Given the description of an element on the screen output the (x, y) to click on. 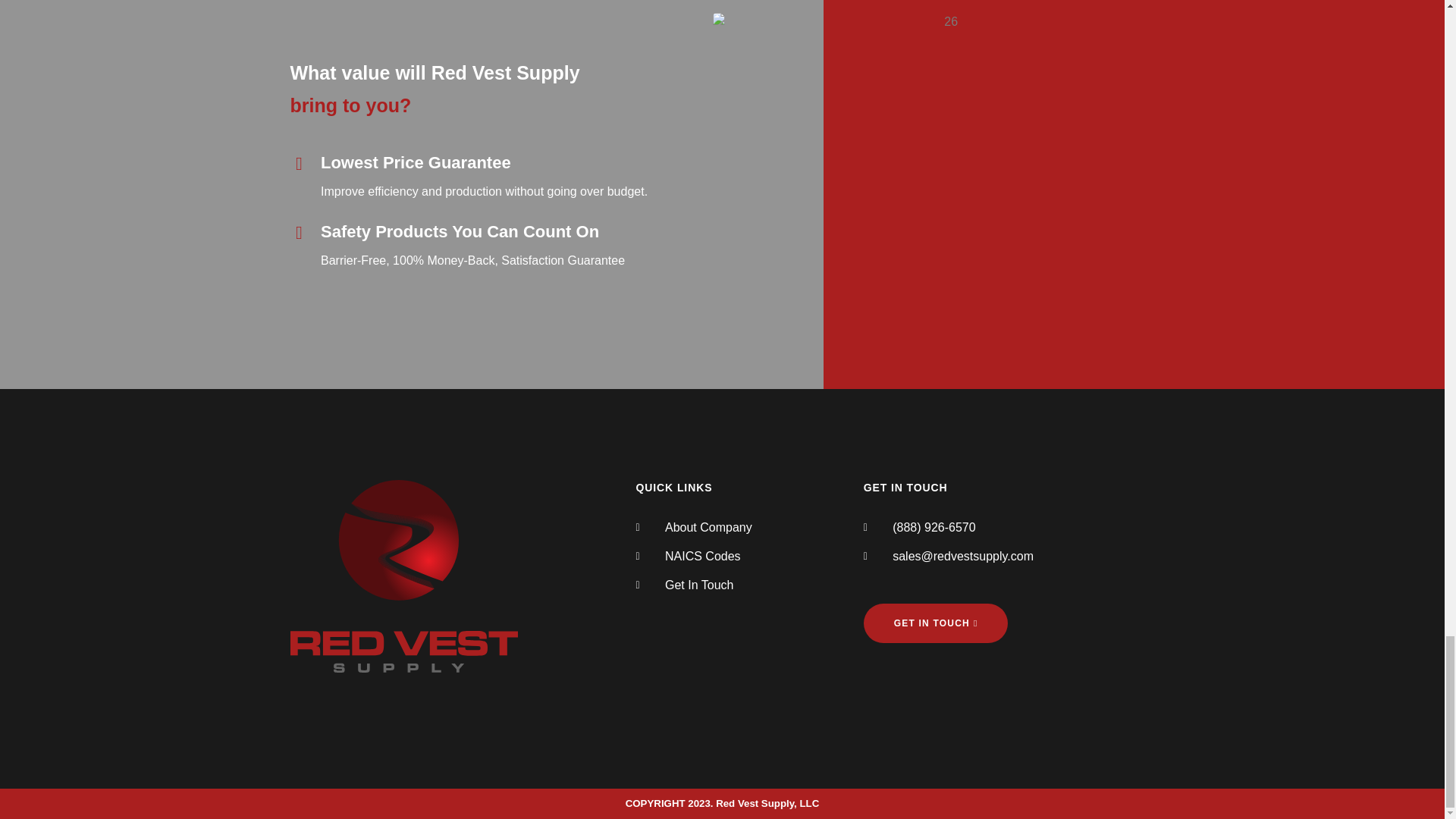
Get In Touch (748, 585)
About Company (748, 527)
GET IN TOUCH (936, 622)
NAICS Codes (748, 556)
